Given the description of an element on the screen output the (x, y) to click on. 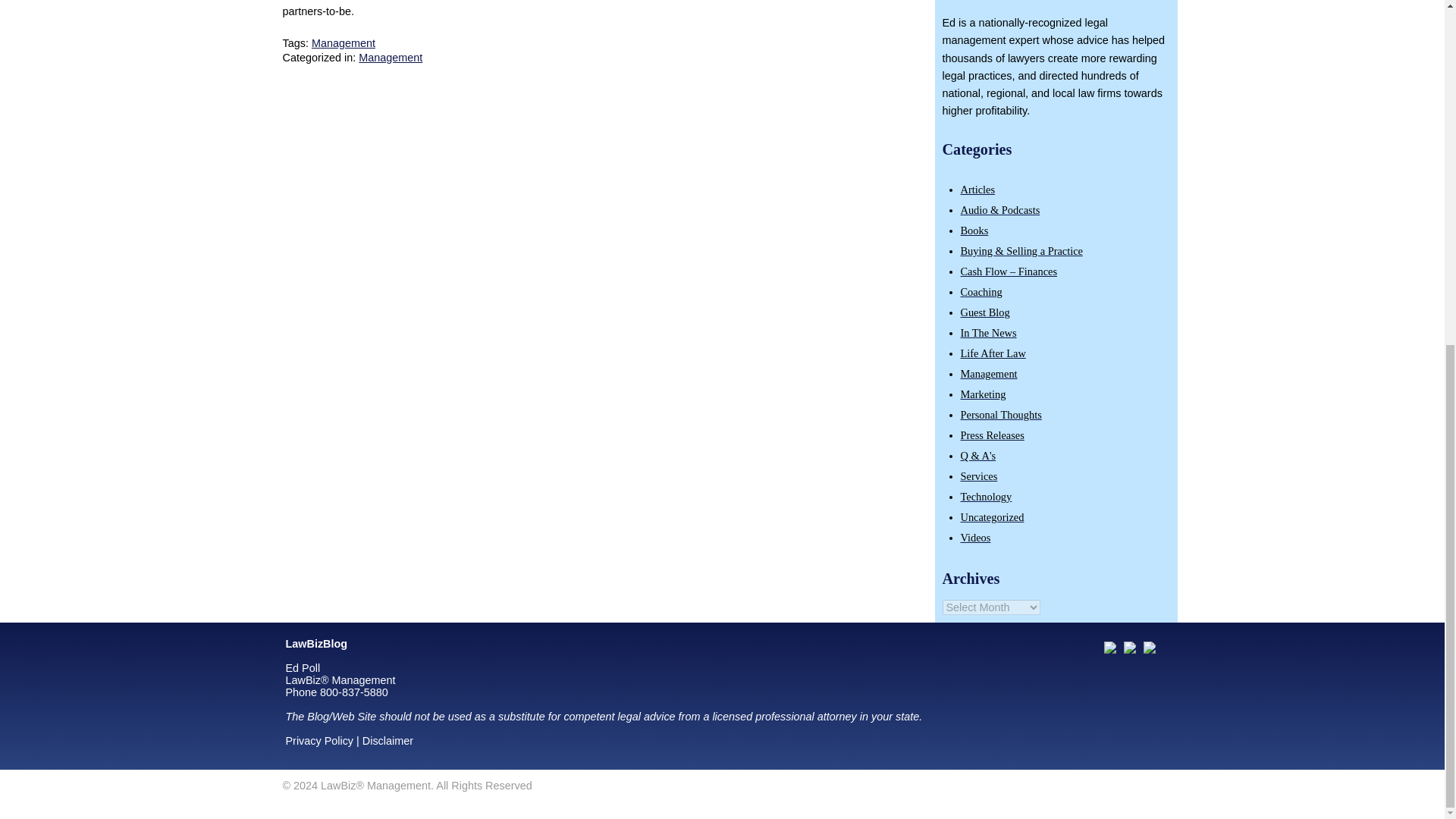
Marketing (982, 394)
Videos (974, 537)
Management (390, 57)
Books (973, 230)
Uncategorized (991, 517)
Disclaimer (387, 740)
Technology (985, 496)
Coaching (980, 291)
Privacy Policy (319, 740)
Life After Law (992, 353)
